Given the description of an element on the screen output the (x, y) to click on. 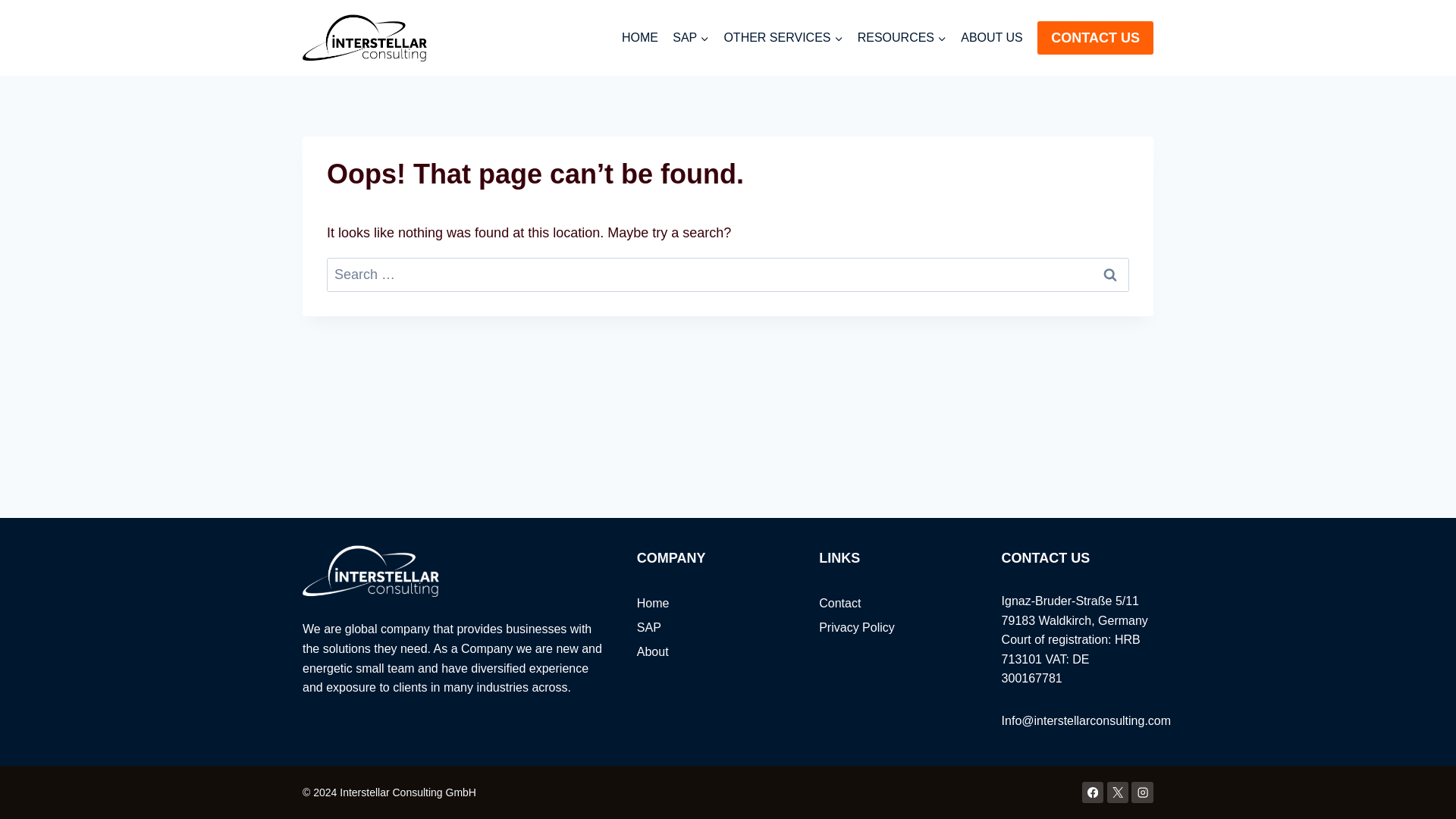
CONTACT US (1094, 37)
Search (1109, 274)
Privacy Policy (894, 627)
About (713, 651)
SAP (713, 627)
Contact (894, 603)
HOME (639, 37)
Search (1109, 274)
Search (1109, 274)
SAP (690, 37)
RESOURCES (901, 37)
ABOUT US (991, 37)
OTHER SERVICES (783, 37)
Home (713, 603)
